Given the description of an element on the screen output the (x, y) to click on. 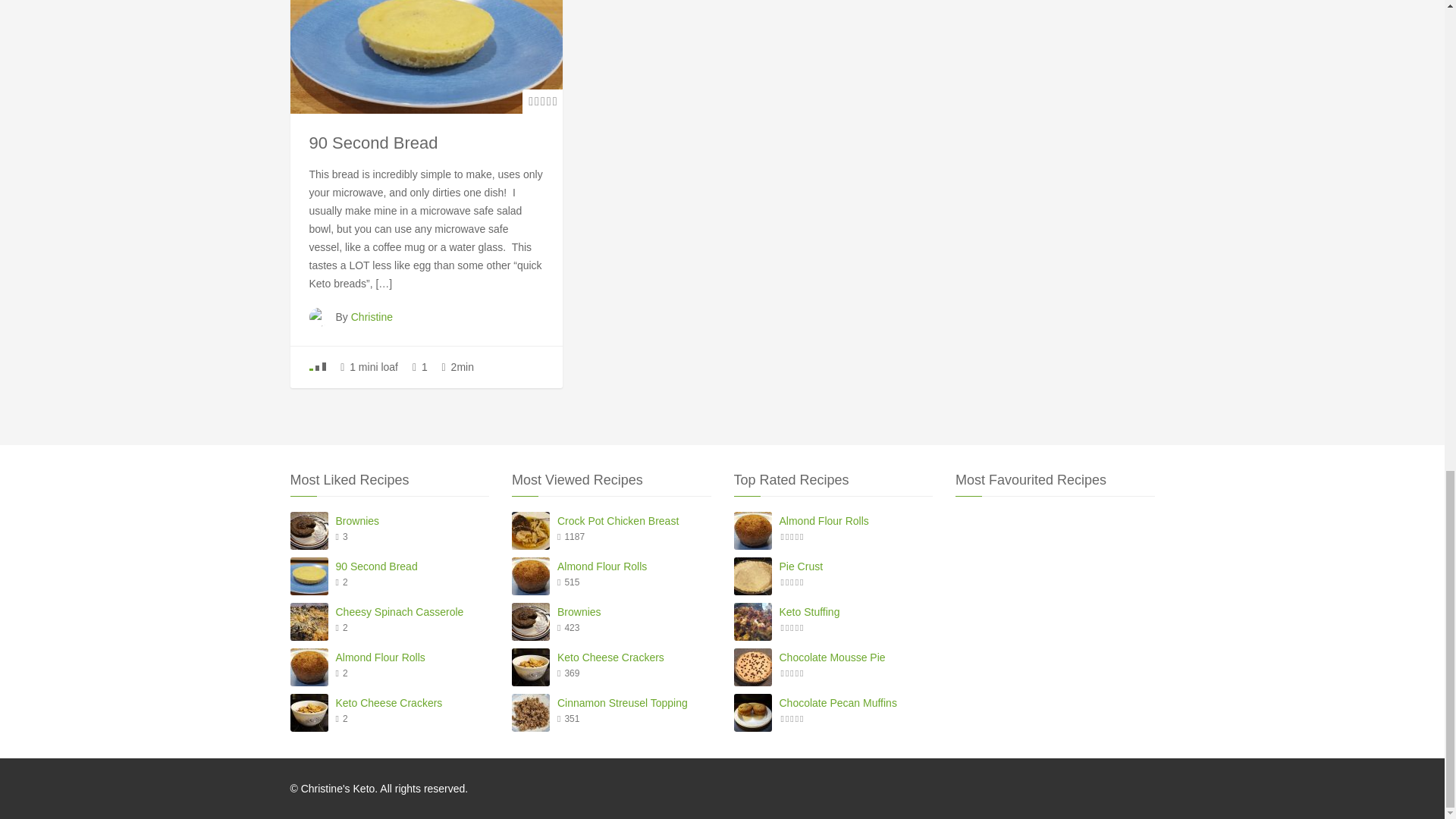
Almond Flour Rolls (411, 657)
Brownies (411, 520)
90 Second Bread (411, 566)
Crock Pot Chicken Breast (634, 520)
Brownies (634, 611)
Cinnamon Streusel Topping (634, 702)
Christine (371, 316)
Keto Cheese Crackers (634, 657)
Almond Flour Rolls (634, 566)
Cheesy Spinach Casserole (411, 611)
Keto Cheese Crackers (411, 702)
90 Second Bread (373, 142)
